Given the description of an element on the screen output the (x, y) to click on. 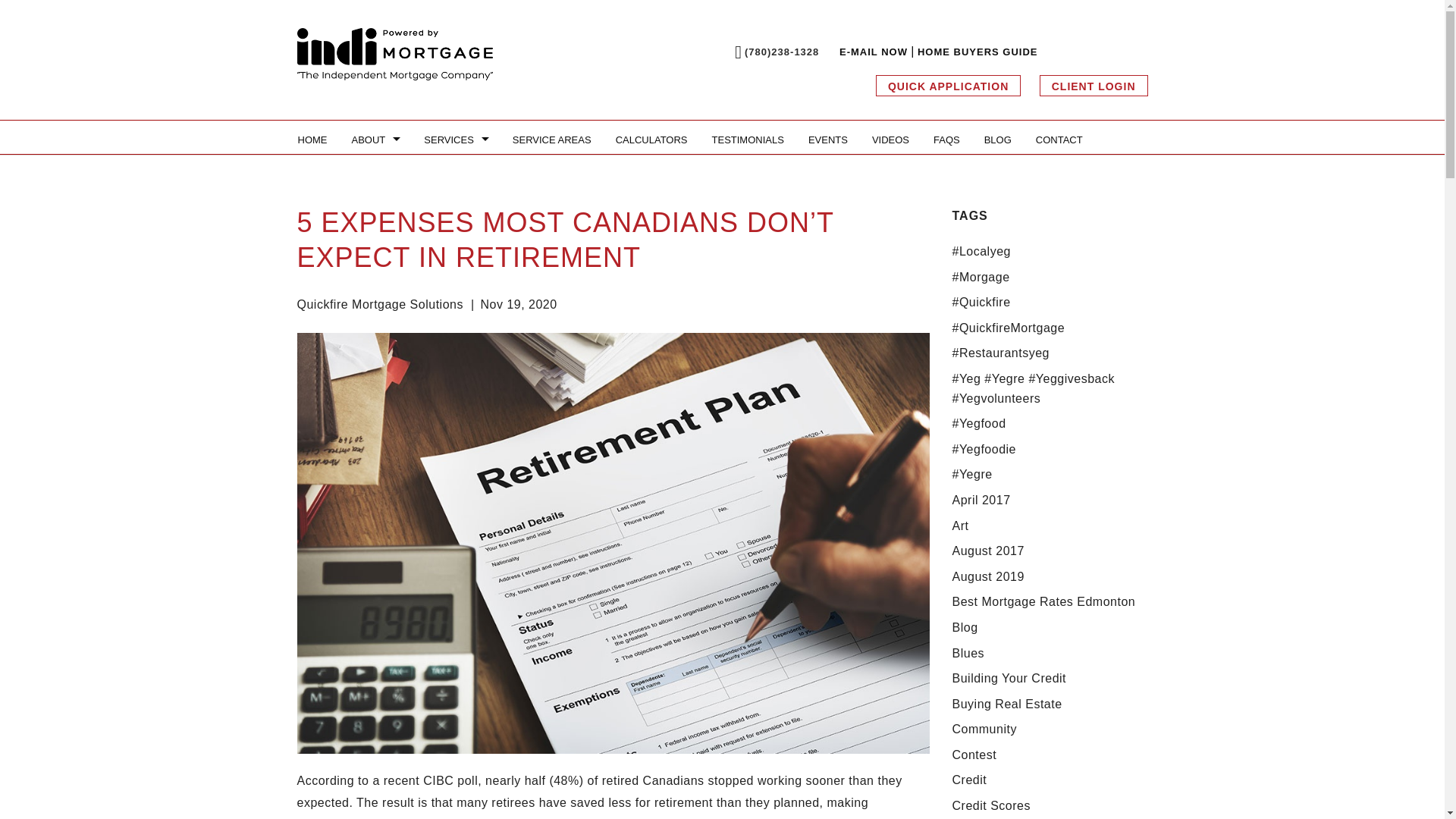
VIDEOS (890, 139)
CALCULATORS (652, 139)
SERVICE AREAS (552, 139)
SERVICES (456, 139)
ABOUT (375, 139)
HOME (312, 139)
EVENTS (828, 139)
QUICK APPLICATION (948, 85)
TESTIMONIALS (748, 139)
FAQS (946, 139)
